Given the description of an element on the screen output the (x, y) to click on. 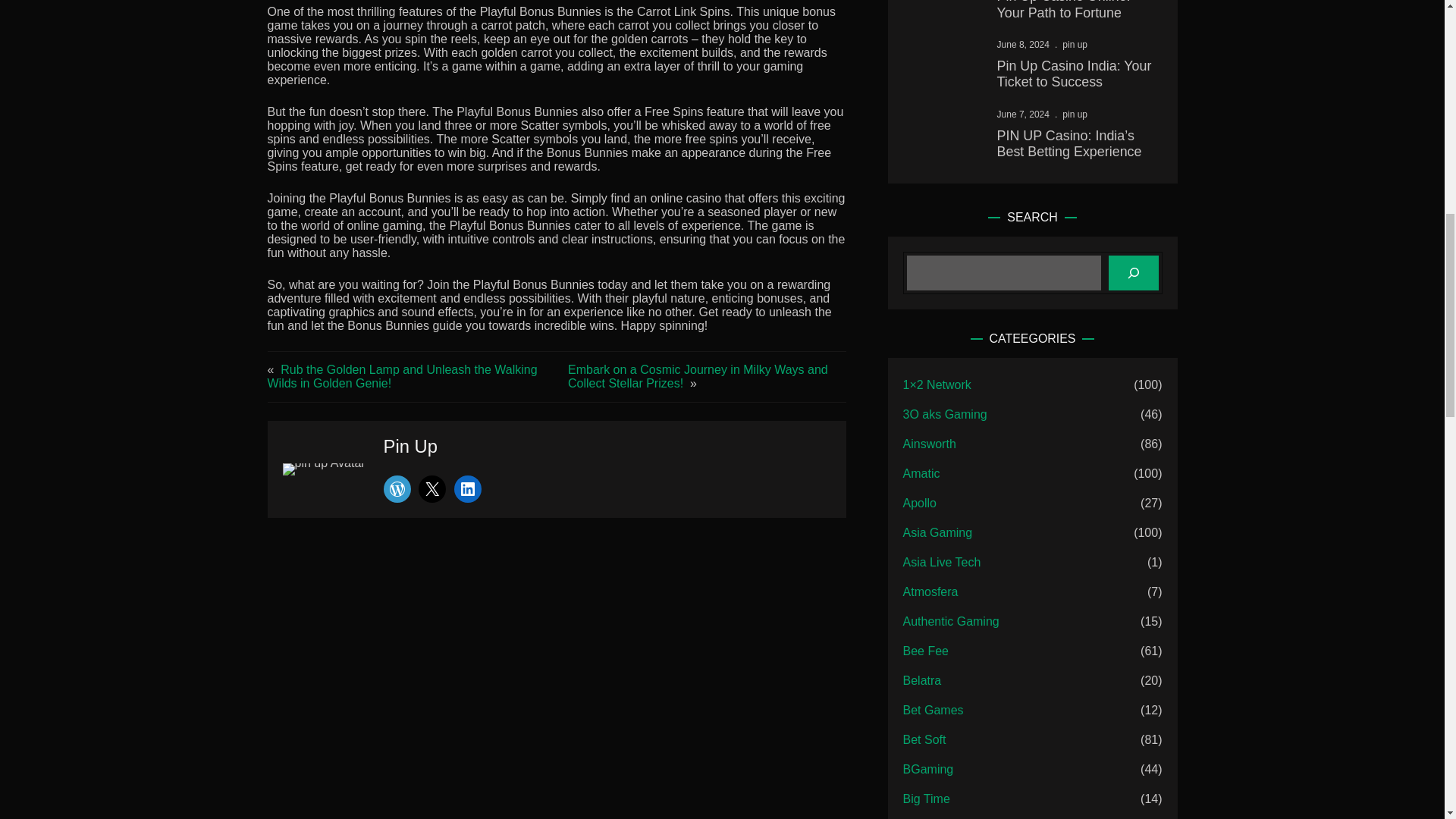
Belatra (922, 680)
Bee Fee (925, 651)
WordPress (397, 488)
X (432, 488)
3O aks Gaming (944, 414)
Amatic (921, 473)
Pin Up Casino India: Your Ticket to Success (1075, 74)
Asia Gaming (937, 532)
Pin Up Casino Online: Your Path to Fortune (1075, 10)
Atmosfera (930, 591)
Asia Live Tech (941, 562)
LinkedIn (467, 488)
Bet Games (932, 710)
